Given the description of an element on the screen output the (x, y) to click on. 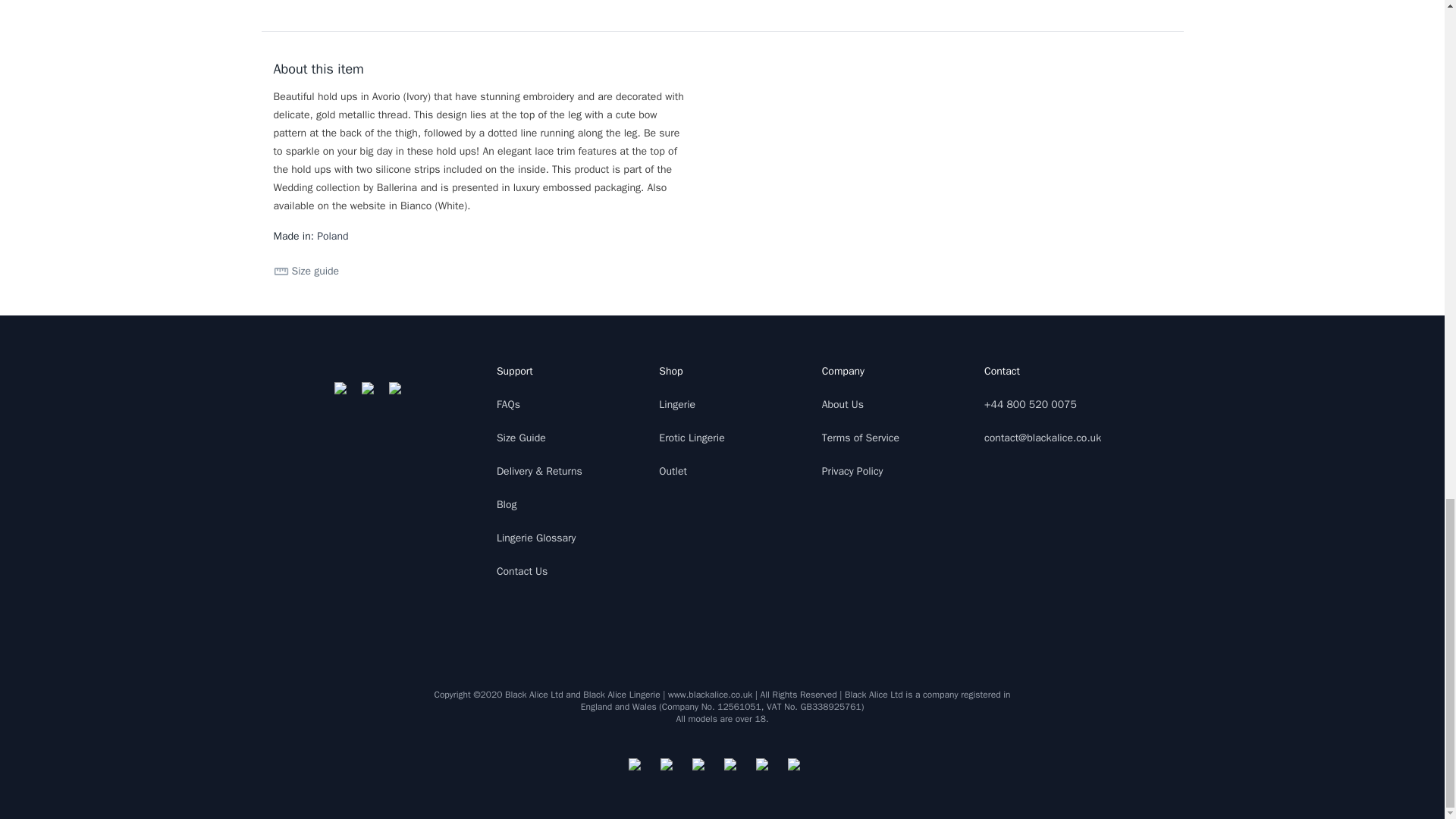
Size guide (306, 271)
Contact Us (521, 571)
Privacy Policy (852, 471)
Size Guide (521, 437)
Erotic Lingerie (691, 437)
Terms of Service (860, 437)
About Us (842, 404)
Blog (506, 504)
FAQs (507, 404)
Lingerie Glossary (536, 537)
Outlet (673, 471)
Lingerie (677, 404)
